Given the description of an element on the screen output the (x, y) to click on. 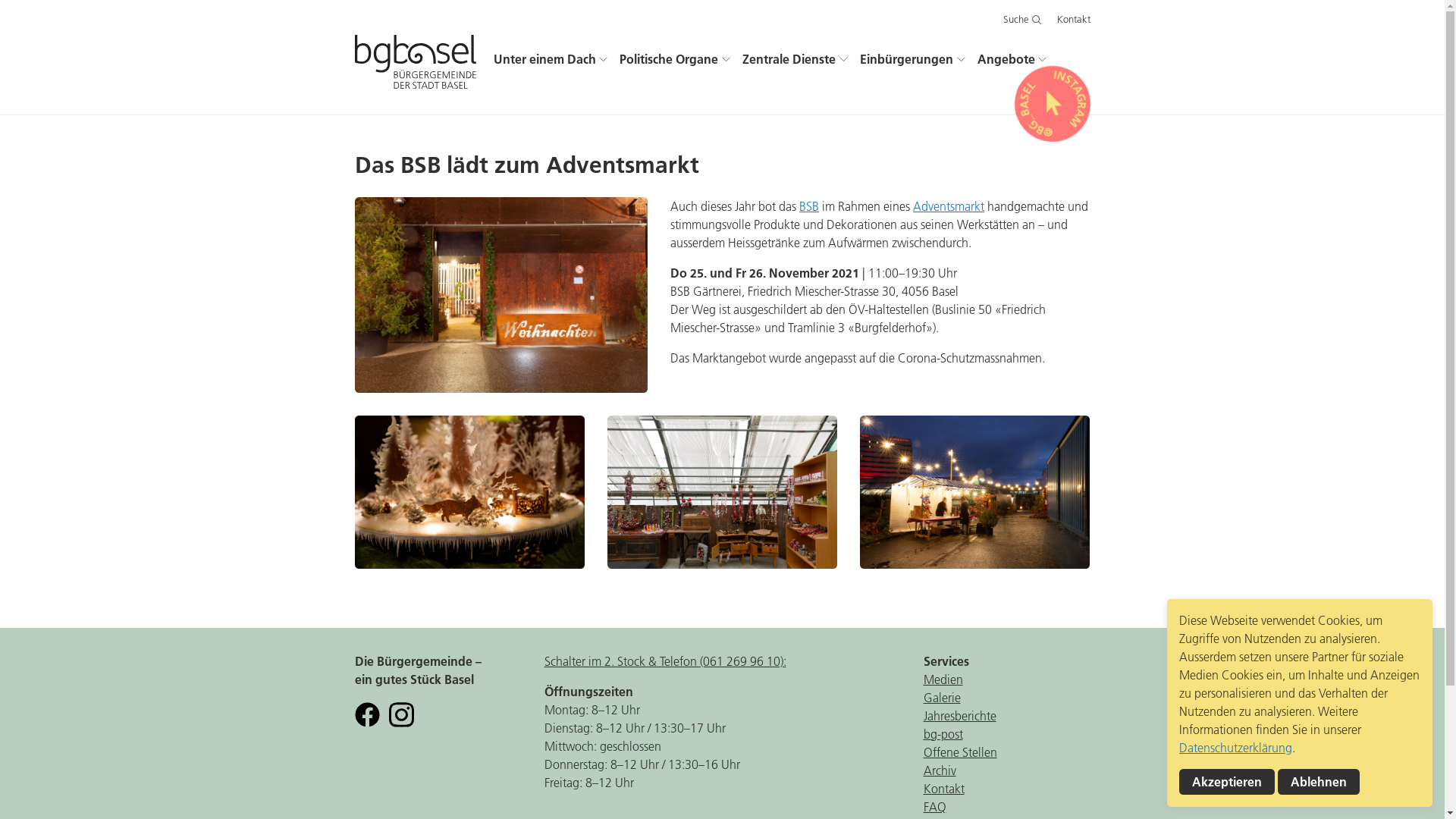
Kontakt Element type: text (1073, 19)
 INSTAGRAM     @BG_BASEL  Element type: text (1052, 103)
bg-post Element type: text (943, 733)
Angebote Element type: text (1012, 59)
Politische Organe Element type: text (674, 59)
adventsmarkt-bsb-4.jpg Element type: hover (974, 491)
Suche Element type: text (1021, 19)
adventsmarkt-bsb-2.jpg Element type: hover (722, 491)
Unter einem Dach Element type: text (549, 59)
Jahresberichte Element type: text (959, 715)
adventsmarkt-bsb-1.jpg Element type: hover (469, 491)
Adventsmarkt Element type: text (948, 205)
BSB Element type: text (809, 205)
FAQ Element type: text (934, 806)
adventsmarkt-bsb-5.jpg Element type: hover (501, 294)
Galerie Element type: text (941, 697)
Kontakt Element type: text (943, 788)
Medien Element type: text (943, 679)
Zentrale Dienste Element type: text (794, 59)
Offene Stellen Element type: text (960, 751)
Archiv Element type: text (939, 770)
